Given the description of an element on the screen output the (x, y) to click on. 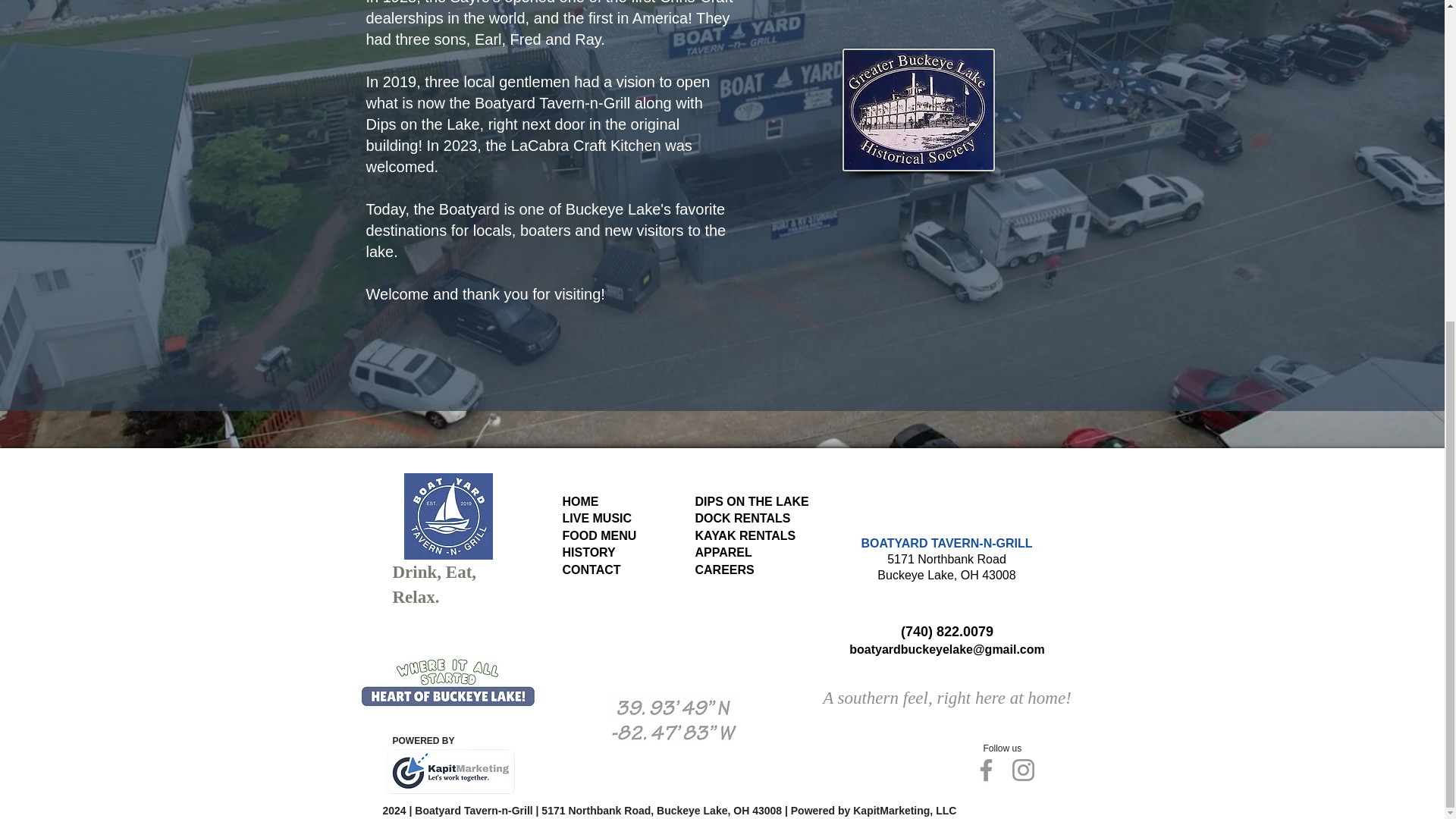
KapitMarketing, LL (901, 810)
HOME (580, 501)
CAREERS (724, 569)
APPAREL (744, 526)
HISTORY (722, 552)
CONTACT (588, 552)
FOOD MENU (591, 569)
DIPS ON THE LAKE (599, 535)
